Given the description of an element on the screen output the (x, y) to click on. 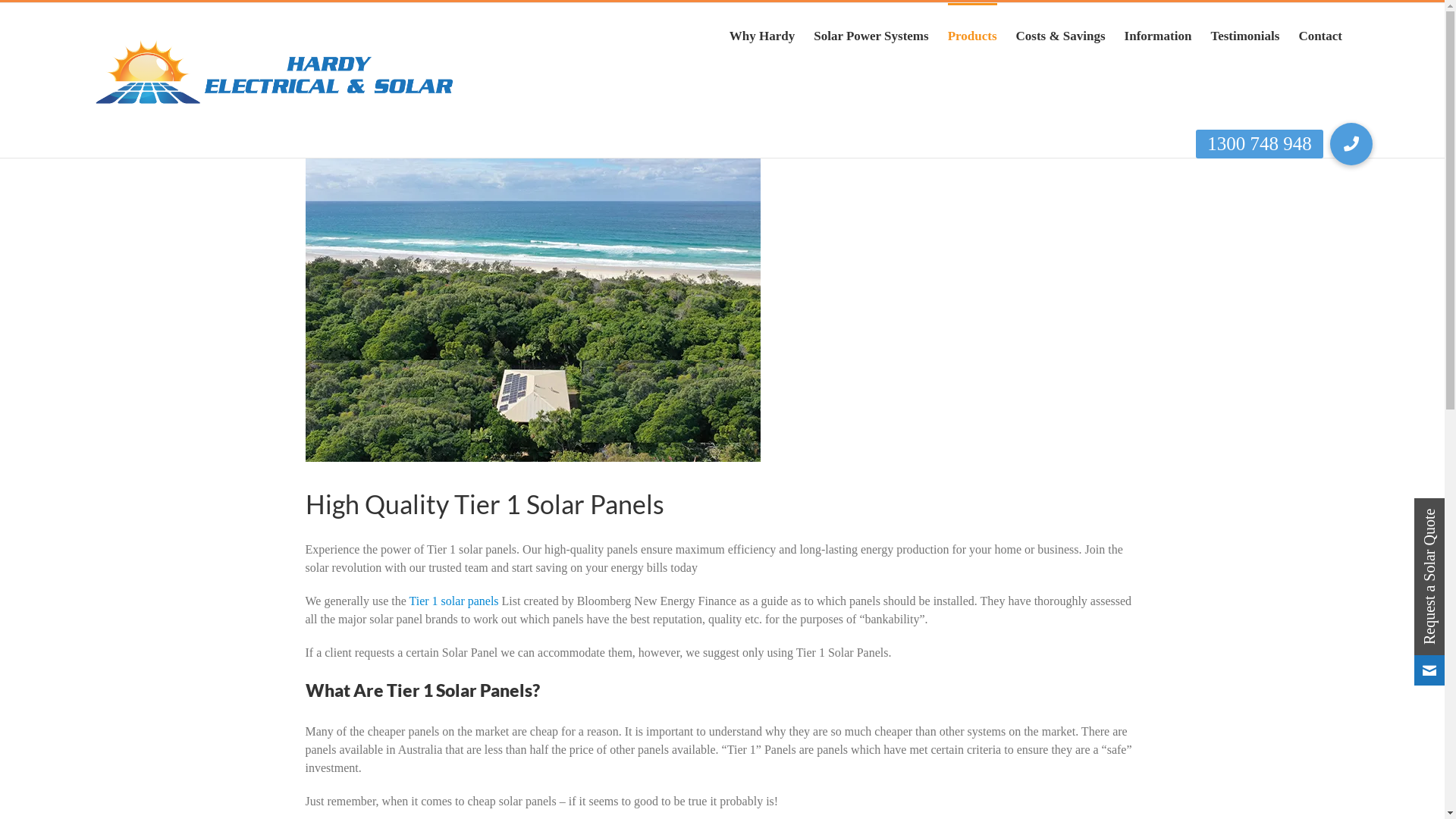
Products Element type: text (972, 34)
Solar Power Systems Element type: text (870, 34)
Why Hardy Element type: text (761, 34)
Contact Element type: text (1320, 34)
Costs & Savings Element type: text (1060, 34)
1300 748 948 Element type: text (1351, 143)
Information Element type: text (1158, 34)
Tier 1 solar panels Element type: text (453, 600)
Testimonials Element type: text (1244, 34)
